Given the description of an element on the screen output the (x, y) to click on. 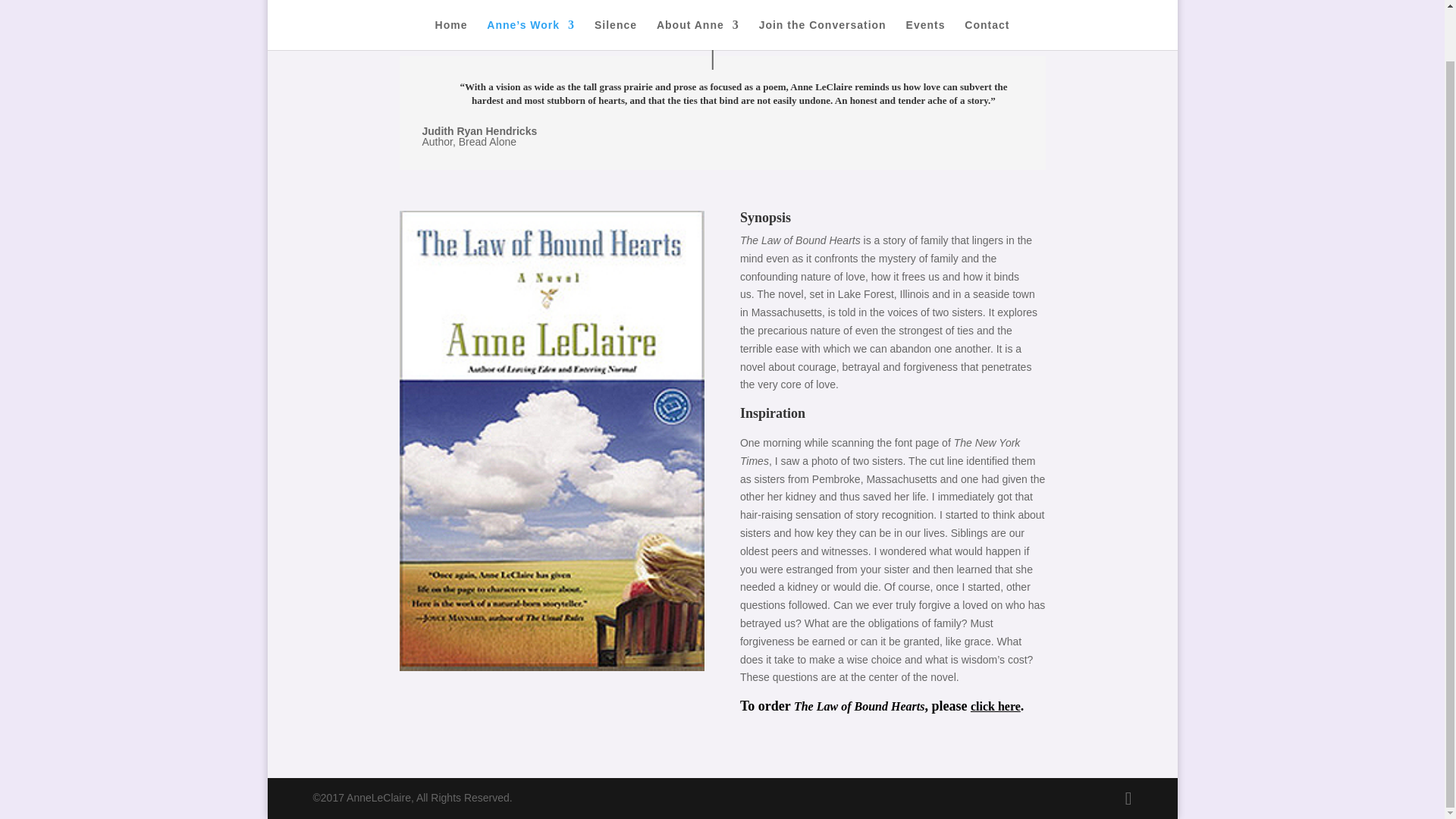
click here (995, 706)
